Given the description of an element on the screen output the (x, y) to click on. 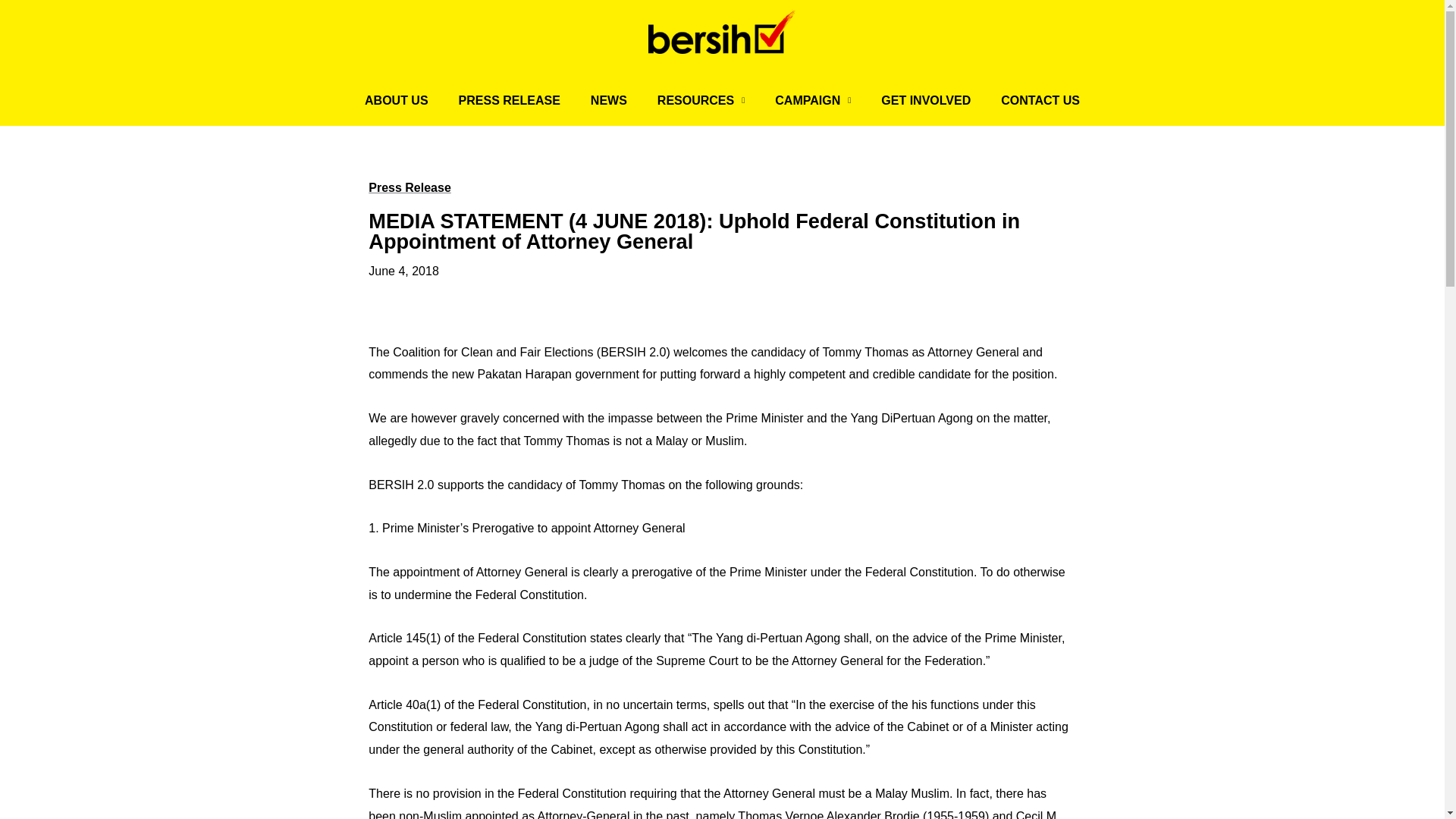
Press Release (409, 187)
GET INVOLVED (925, 100)
NEWS (608, 100)
CAMPAIGN (813, 100)
June 4, 2018 (403, 271)
ABOUT US (396, 100)
CONTACT US (1039, 100)
PRESS RELEASE (509, 100)
RESOURCES (701, 100)
